Given the description of an element on the screen output the (x, y) to click on. 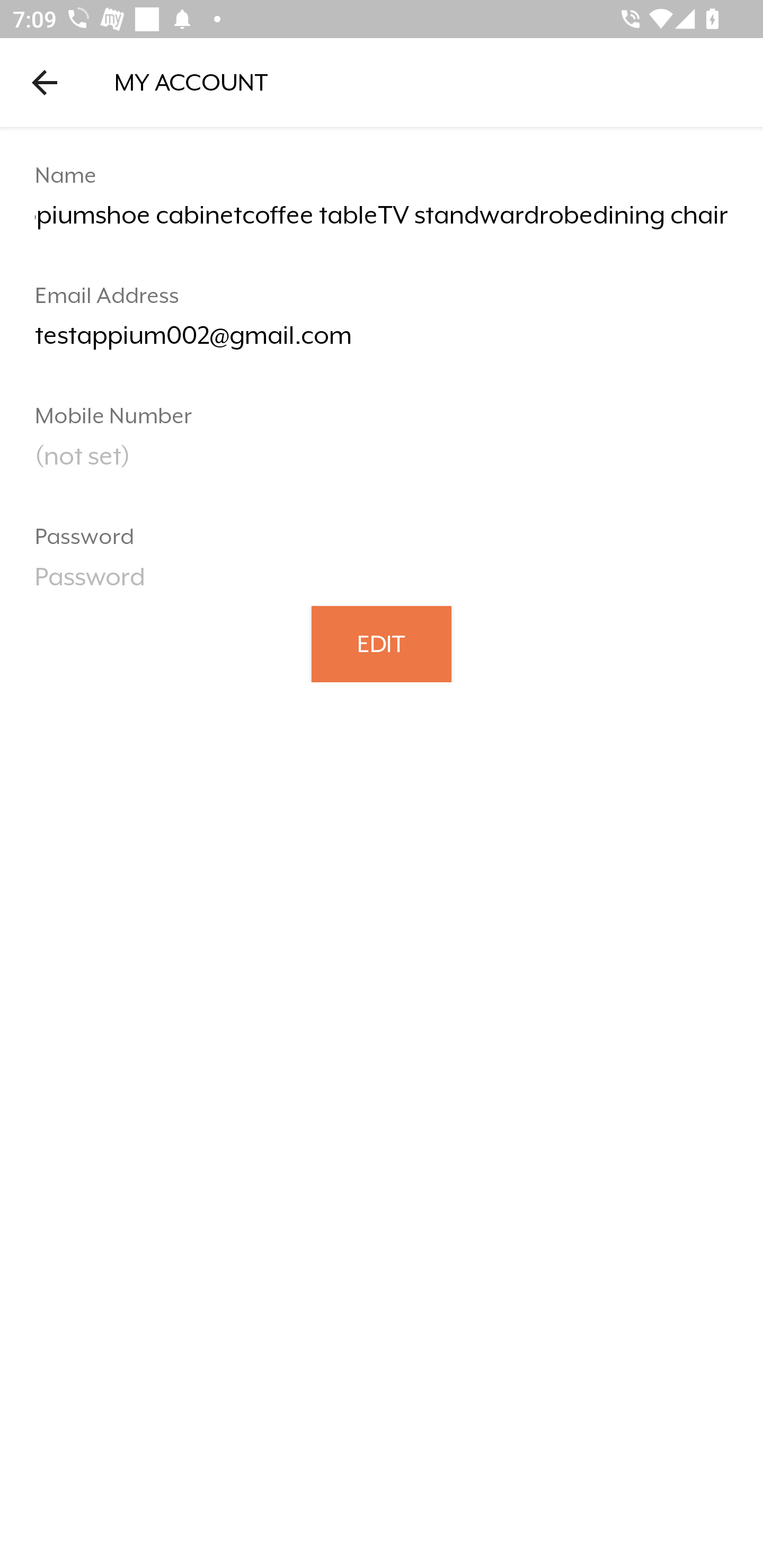
Navigate up (44, 82)
testappium002@gmail.com (381, 342)
Password (381, 583)
EDIT (381, 643)
